Given the description of an element on the screen output the (x, y) to click on. 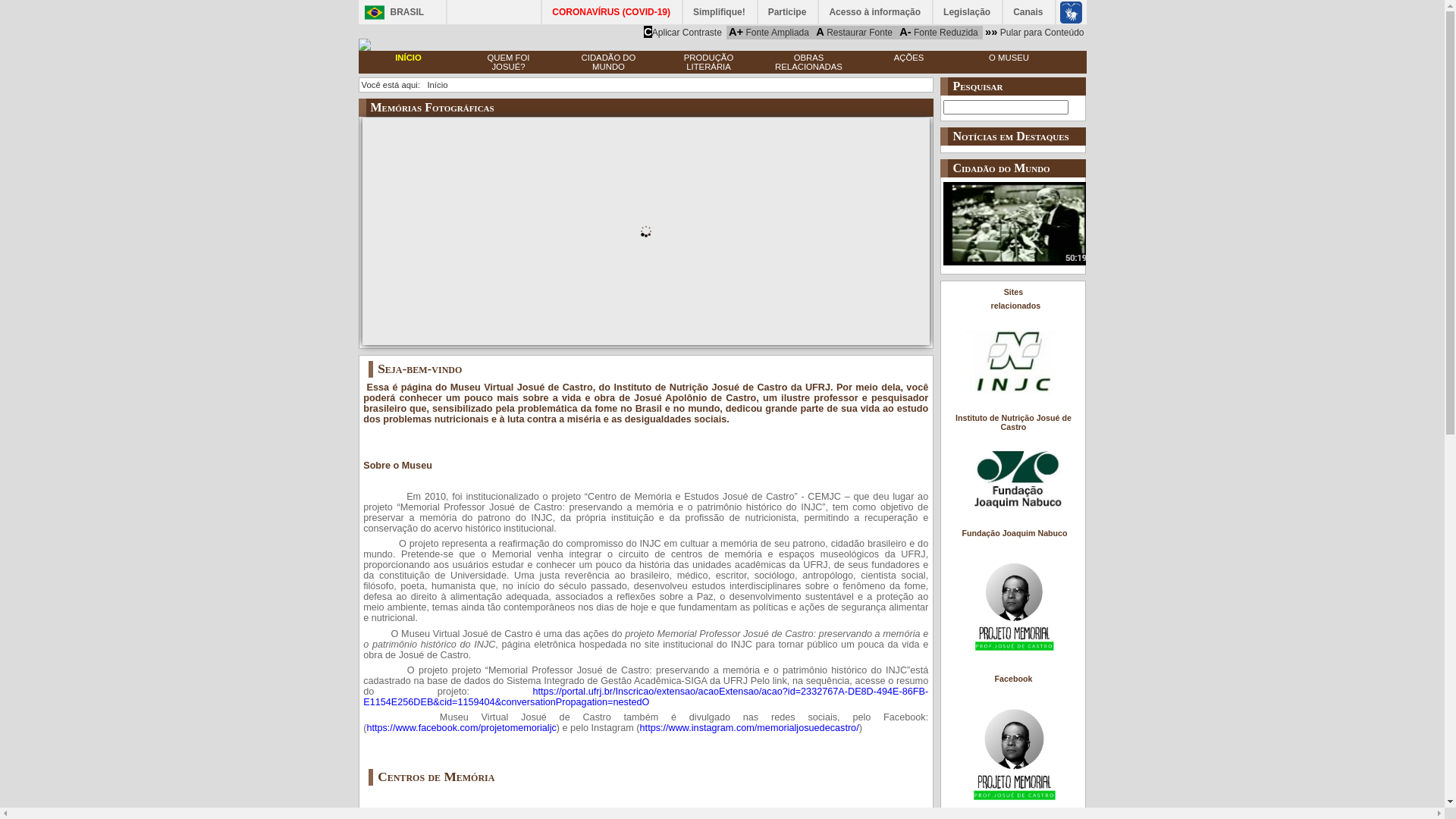
https://www.instagram.com/memorialjosuedecastro/ Element type: text (749, 727)
Simplifique! Element type: text (719, 11)
https://www.facebook.com/projetomemorialjc Element type: text (460, 727)
OBRAS RELACIONADAS Element type: text (808, 61)
O MUSEU Element type: text (1008, 57)
Teste do letreiro Element type: hover (399, 123)
Participe Element type: text (788, 11)
Canais Element type: text (1028, 11)
A- Fonte Reduzida Element type: text (938, 31)
A Restaurar Fonte Element type: text (853, 31)
BRASIL Element type: text (389, 12)
A+ Fonte Ampliada Element type: text (768, 31)
fotos2 Element type: hover (722, 231)
CAplicar Contraste Element type: text (682, 31)
